Given the description of an element on the screen output the (x, y) to click on. 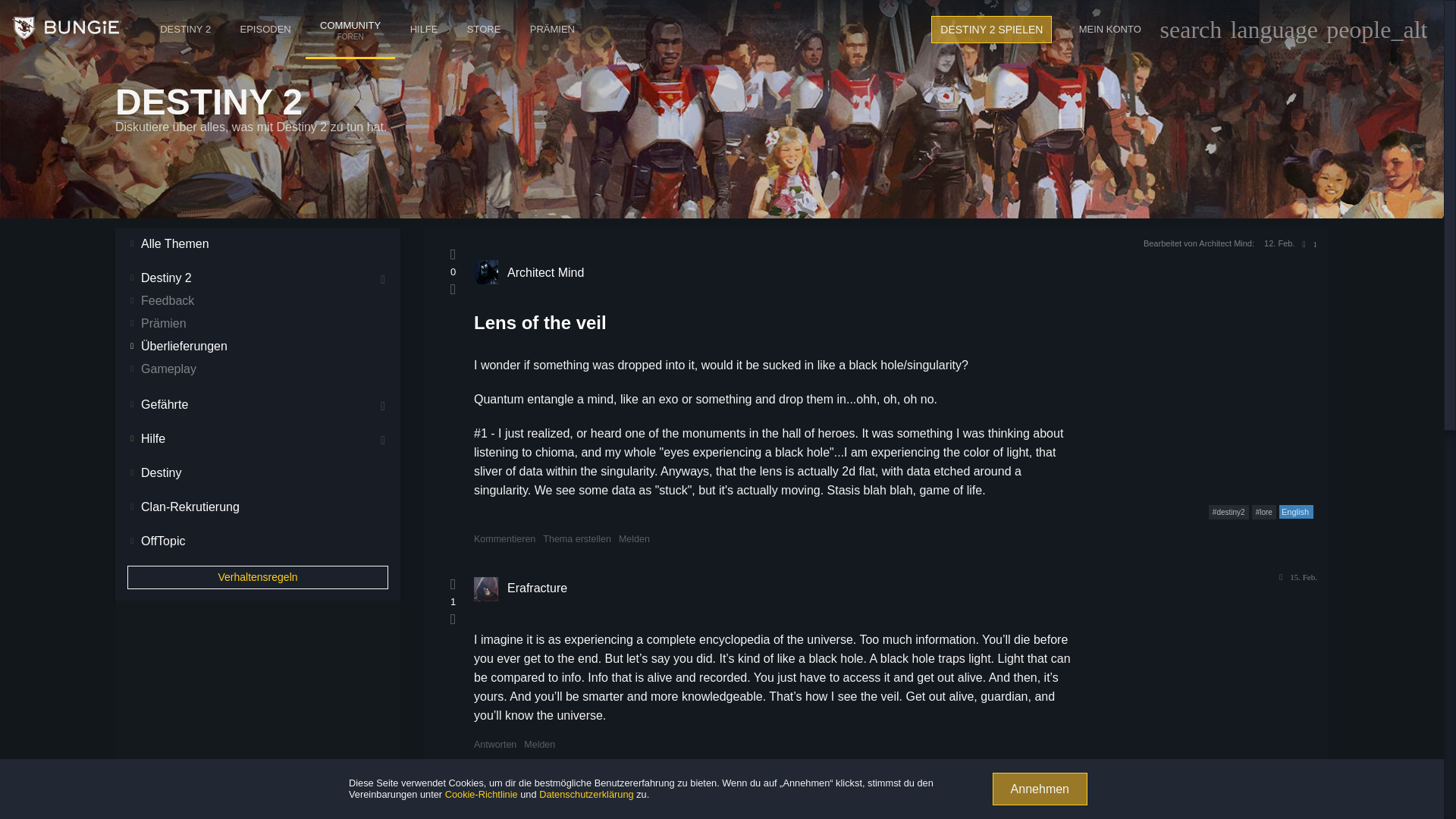
Melden (633, 538)
DESTINY 2 (185, 29)
STORE (350, 13)
Thema erstellen (483, 29)
EPISODEN (577, 538)
HILFE (265, 29)
DESTINY 2 SPIELEN (422, 29)
Destiny (991, 29)
Kommentieren (65, 29)
